Given the description of an element on the screen output the (x, y) to click on. 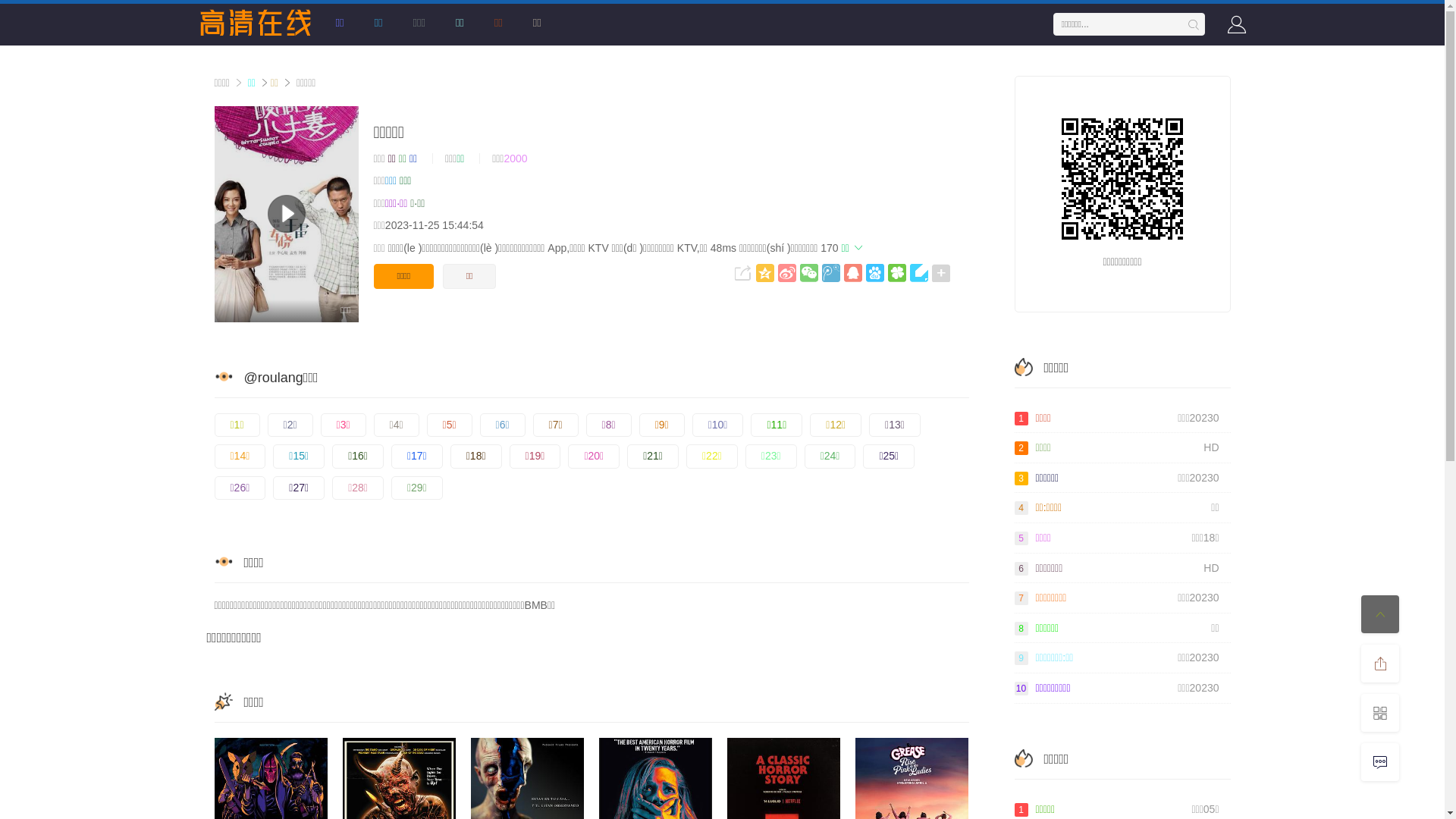
2000 Element type: text (515, 158)
